Given the description of an element on the screen output the (x, y) to click on. 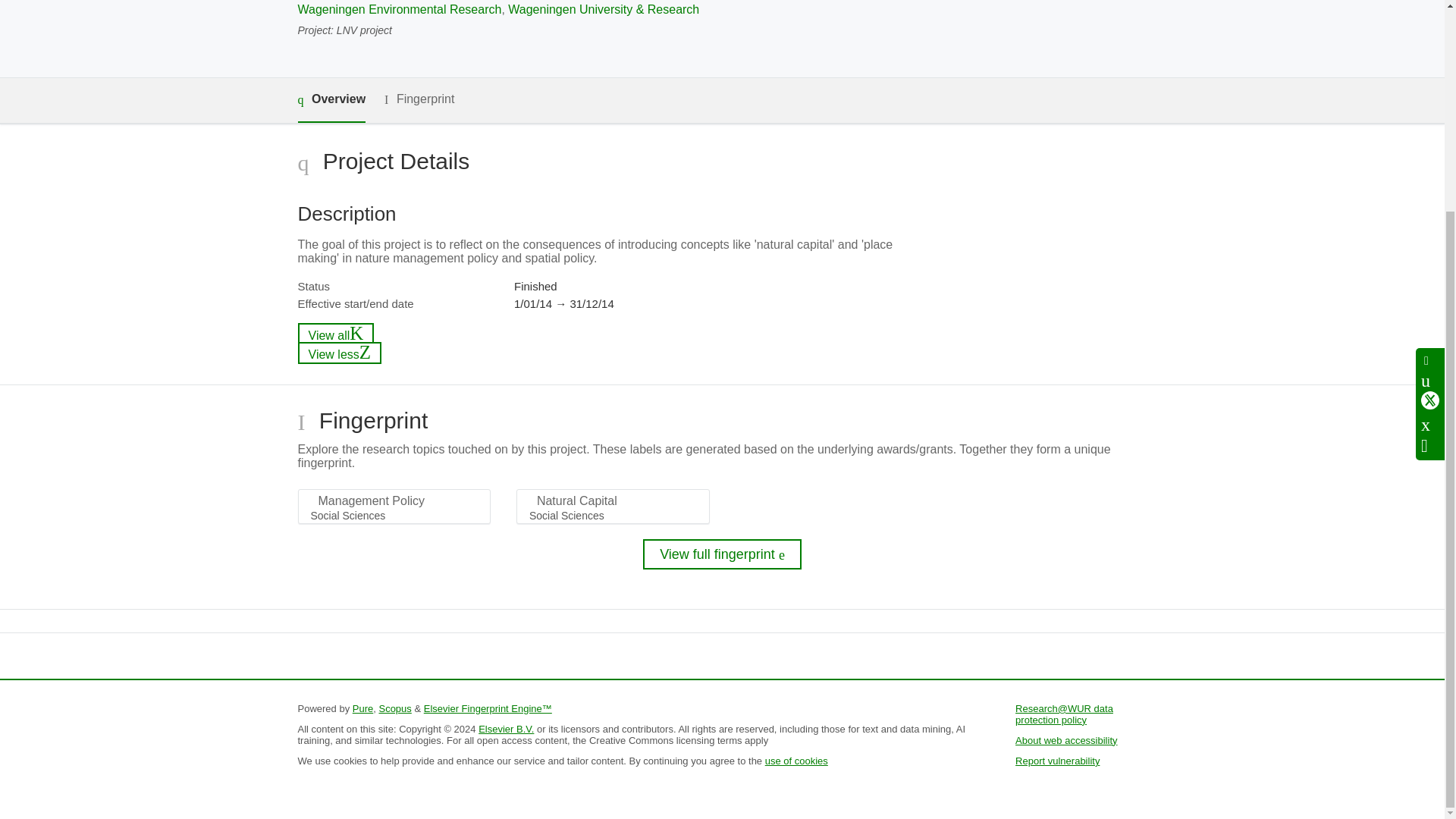
Pure (362, 708)
Report vulnerability (1056, 760)
Scopus (394, 708)
Elsevier B.V. (506, 728)
Fingerprint (419, 99)
Wageningen Environmental Research (398, 9)
Overview (331, 99)
View full fingerprint (722, 553)
View all (335, 333)
View less (339, 352)
